Given the description of an element on the screen output the (x, y) to click on. 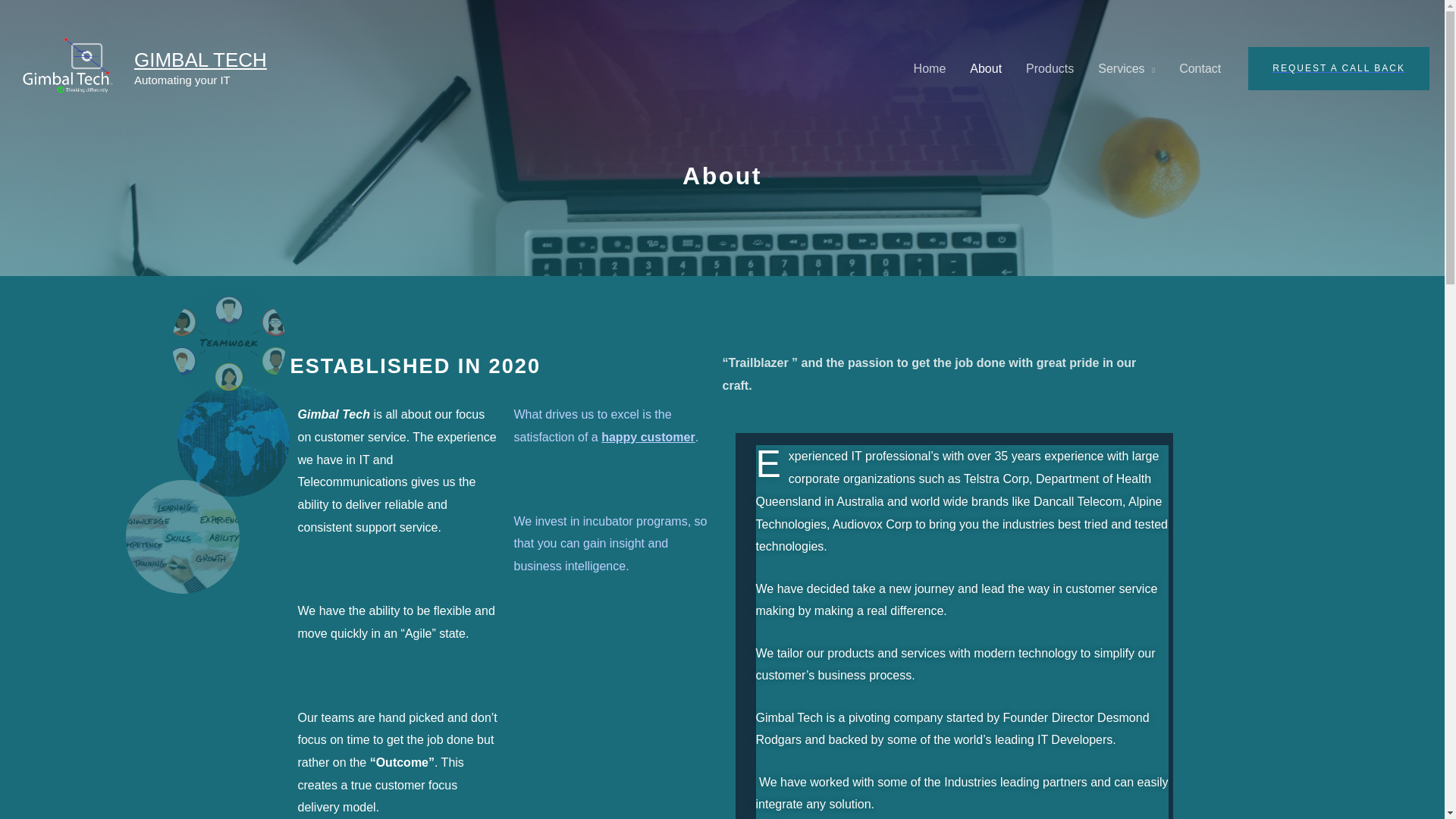
Contact (1200, 68)
REQUEST A CALL BACK (1338, 67)
About (985, 68)
GIMBAL TECH (199, 59)
Products (1049, 68)
Home (929, 68)
Services (1126, 68)
